Given the description of an element on the screen output the (x, y) to click on. 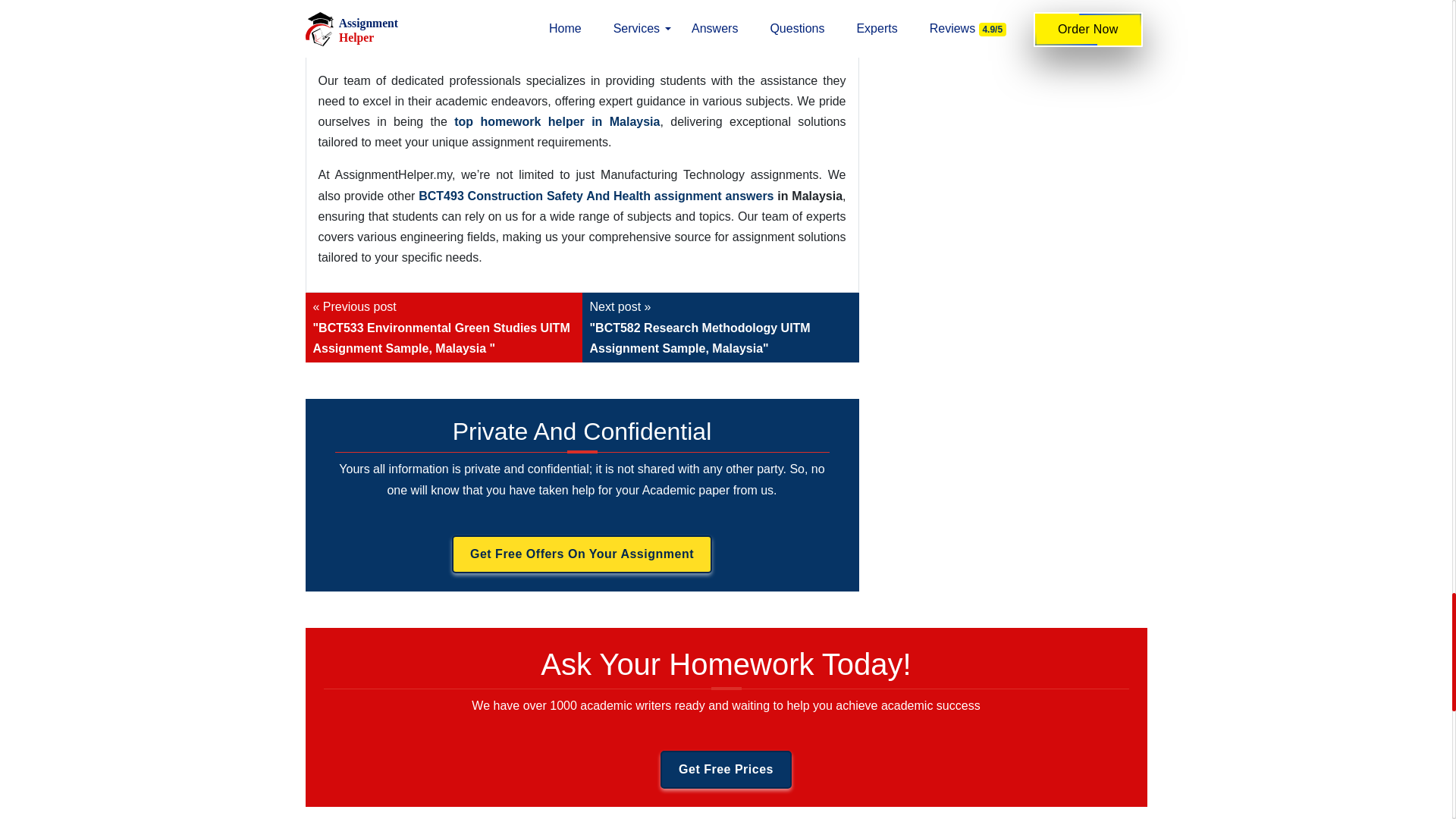
BCT493 Construction Safety And Health assignment answers (593, 195)
cheap assignment help in Malaysia (581, 37)
BCT582 Research Methodology UITM Assignment Sample, Malaysia (720, 327)
top homework helper in Malaysia (556, 121)
